Given the description of an element on the screen output the (x, y) to click on. 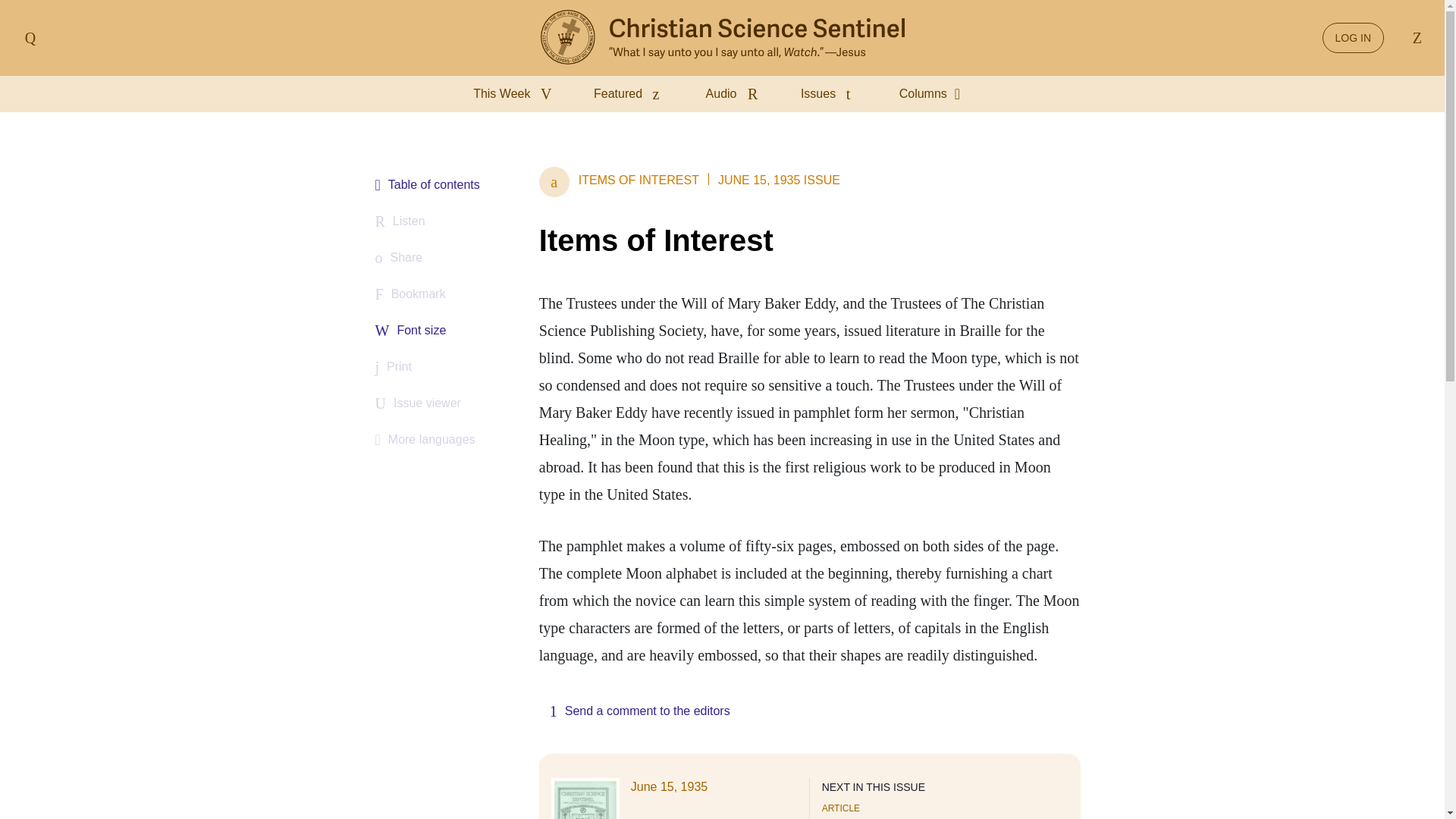
Search Modal (1414, 37)
This Week (515, 94)
View Sentinel Columns and Sections (934, 94)
Featured (631, 94)
LOG IN (1353, 37)
Columns (934, 94)
Christian Science Sentinel (722, 37)
This Week (515, 94)
Featured (631, 94)
Audio (735, 94)
Side Menu (29, 37)
Issues (831, 94)
Issues (831, 94)
Audio (735, 94)
